Given the description of an element on the screen output the (x, y) to click on. 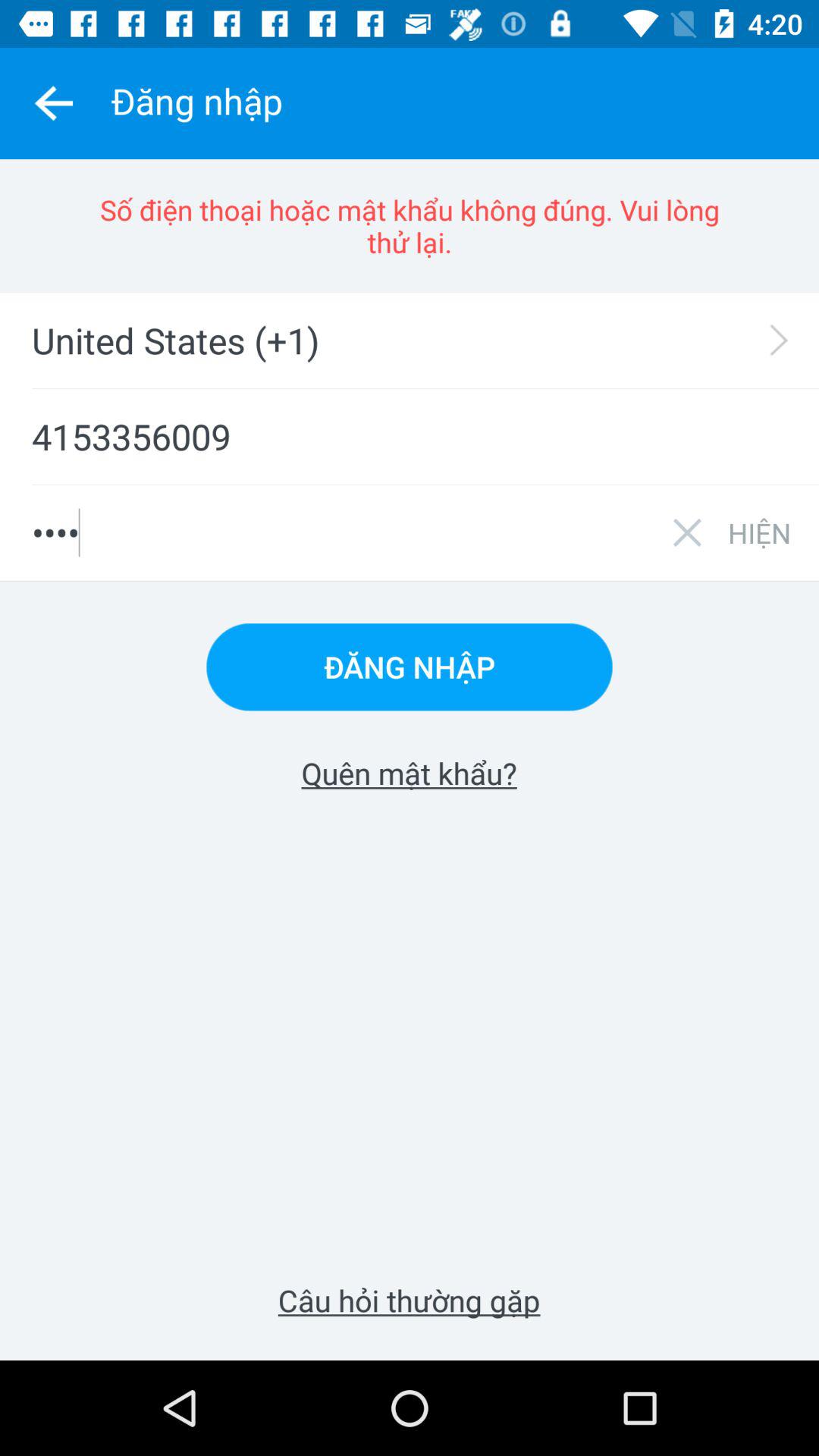
press icon below the 4153356009 item (759, 532)
